Given the description of an element on the screen output the (x, y) to click on. 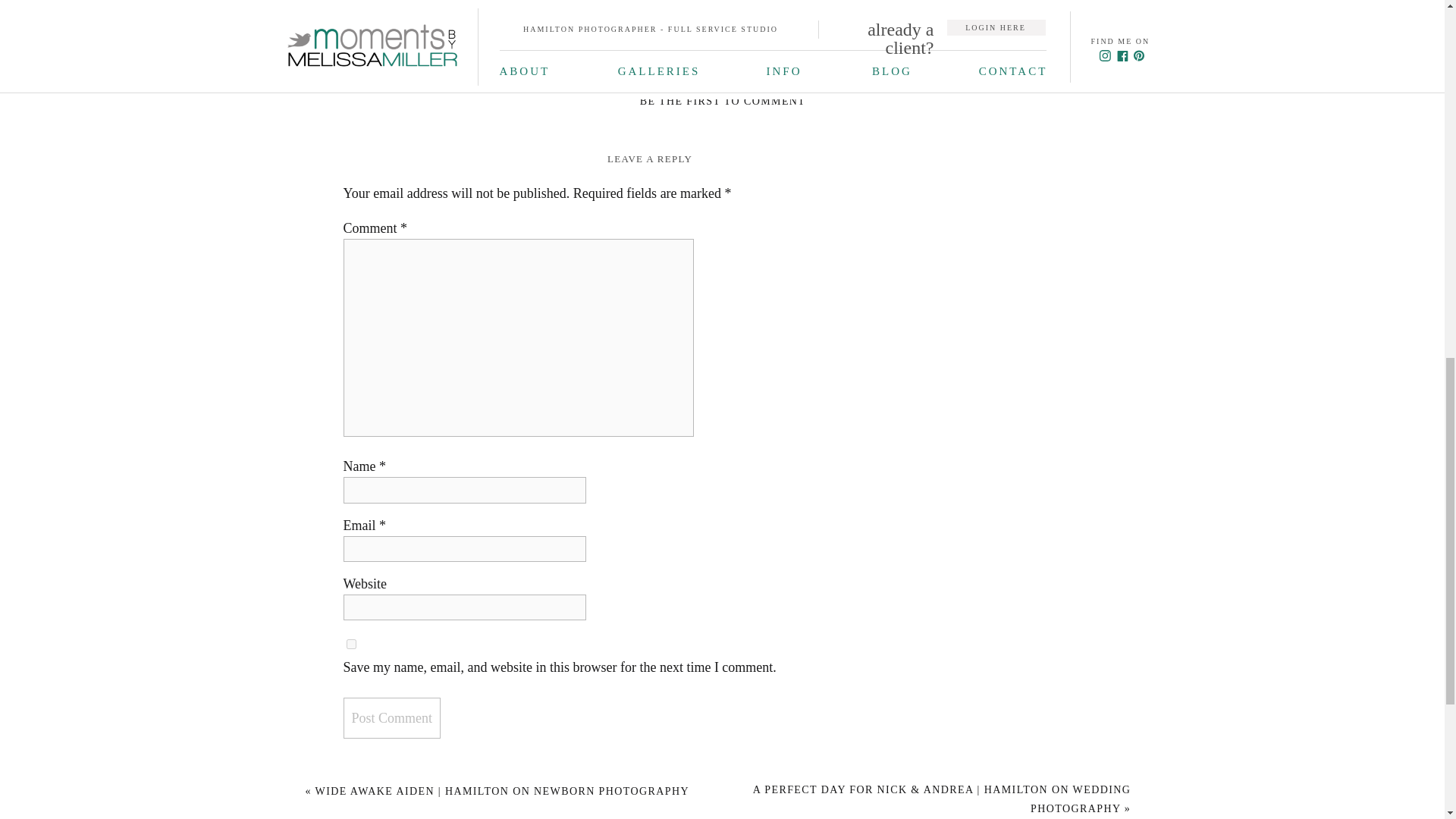
yes (350, 644)
Post Comment (391, 717)
